Given the description of an element on the screen output the (x, y) to click on. 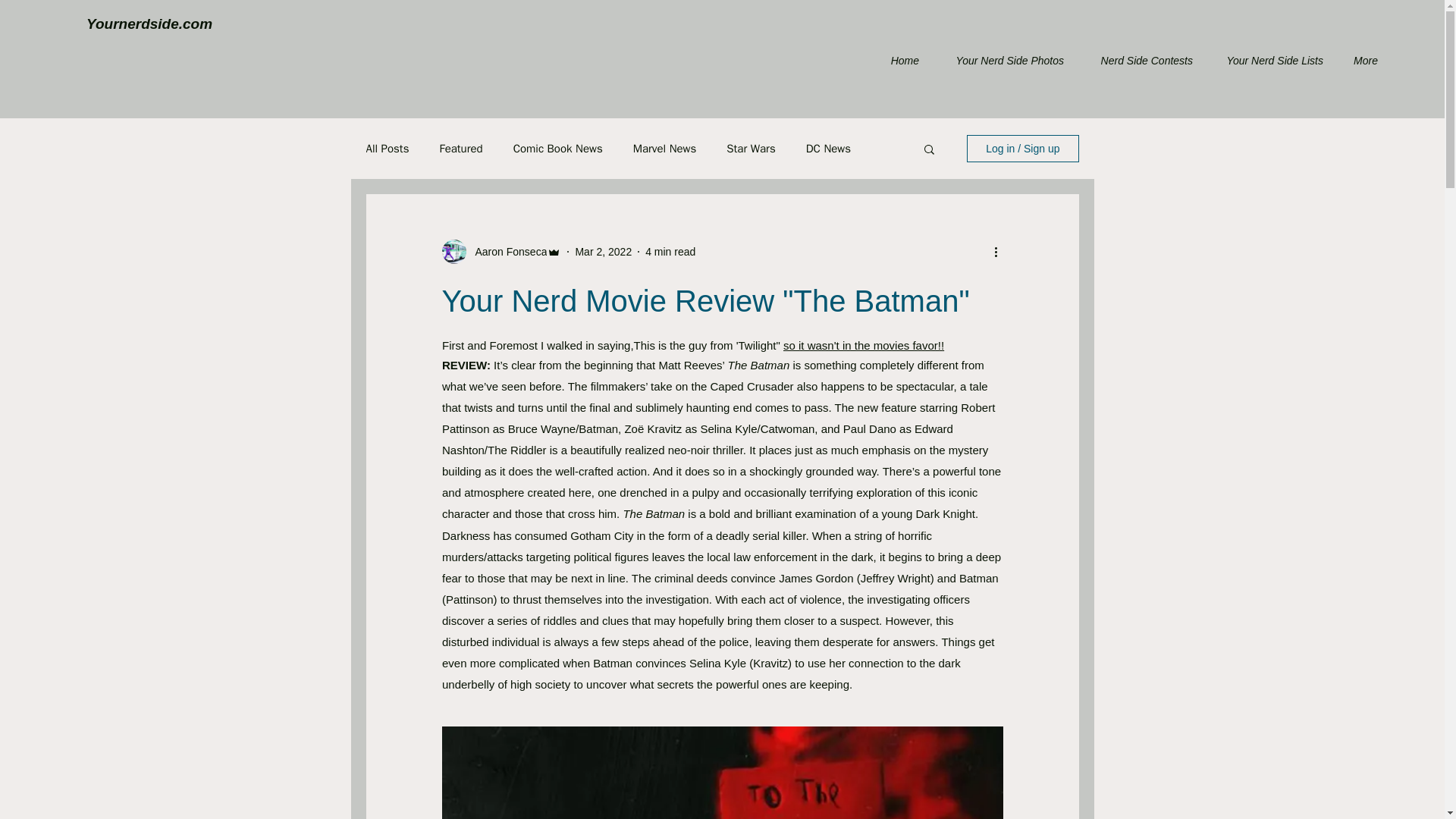
Star Wars (750, 147)
Your Nerd Side Photos (1002, 60)
Aaron  Fonseca (506, 252)
Mar 2, 2022 (603, 251)
Featured (460, 147)
Marvel News (665, 147)
Comic Book News (557, 147)
Your Nerd Side Lists (1269, 60)
DC News (828, 147)
Nerd Side Contests (1139, 60)
Yournerdside.com (148, 23)
4 min read (670, 251)
All Posts (387, 147)
